Given the description of an element on the screen output the (x, y) to click on. 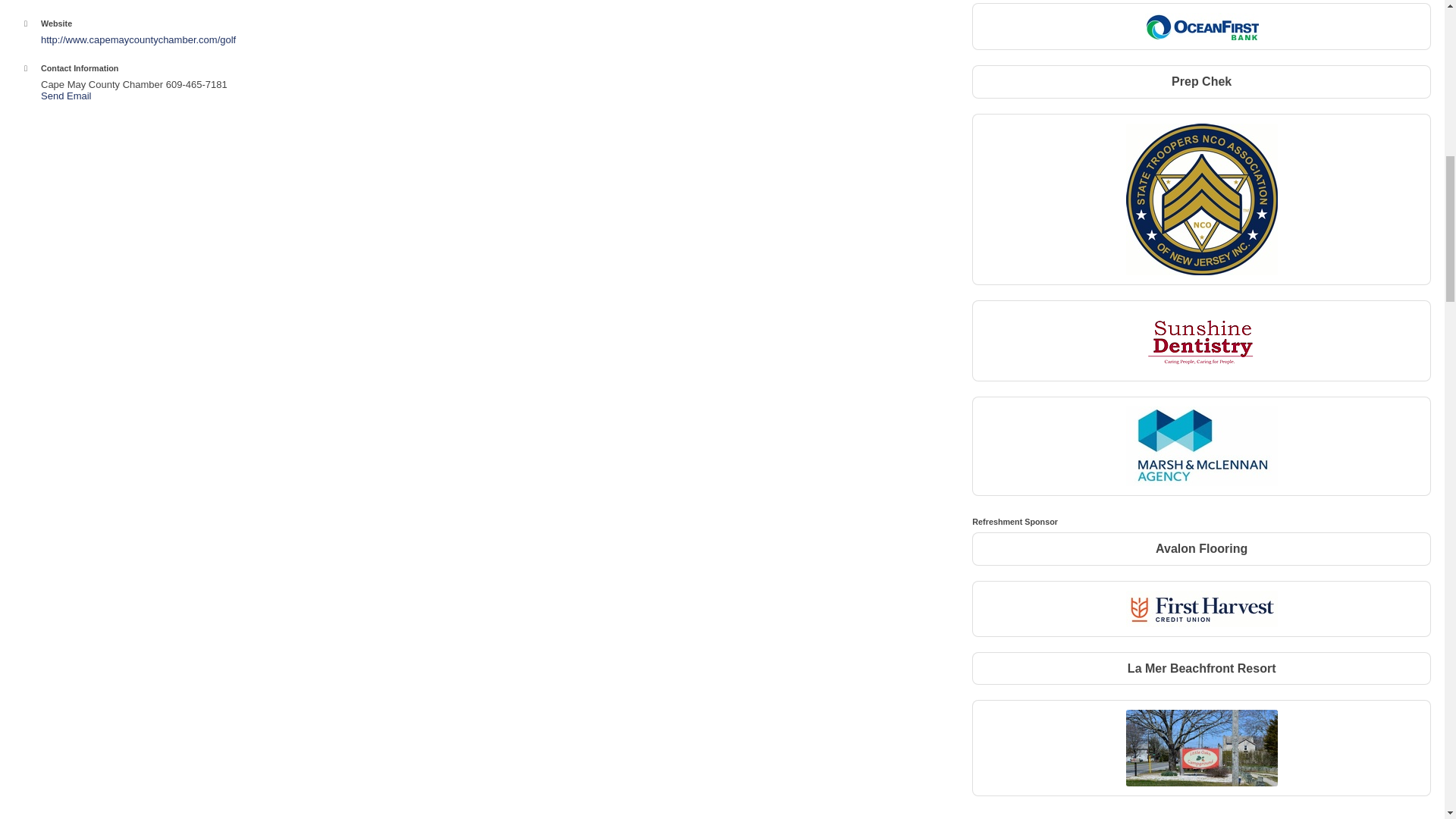
Avalon Flooring (1201, 549)
Prep Chek (1201, 81)
La Mer Beachfront Resort (1201, 668)
Send Email (65, 95)
